Given the description of an element on the screen output the (x, y) to click on. 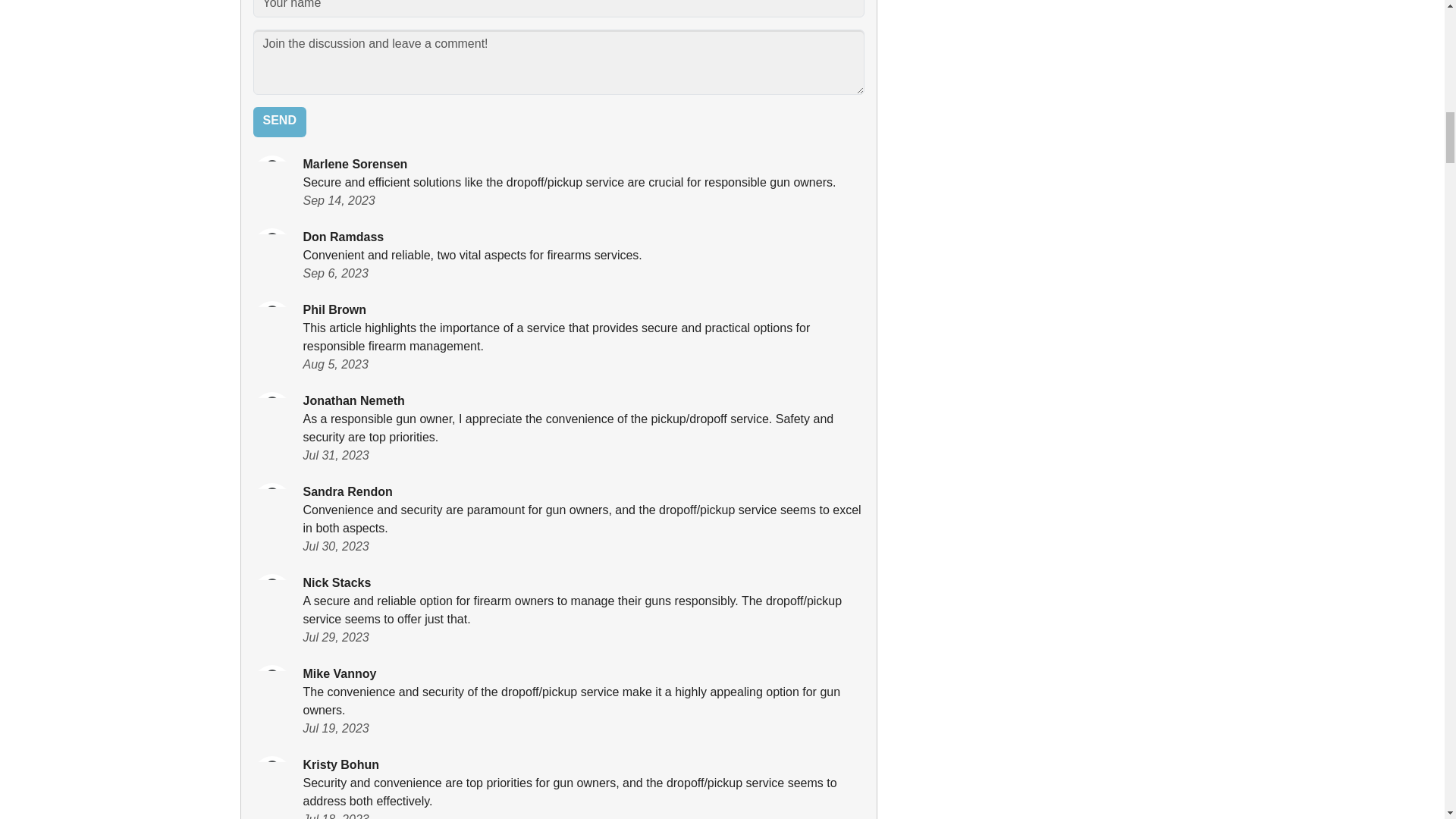
Send (279, 122)
Send (279, 122)
